Given the description of an element on the screen output the (x, y) to click on. 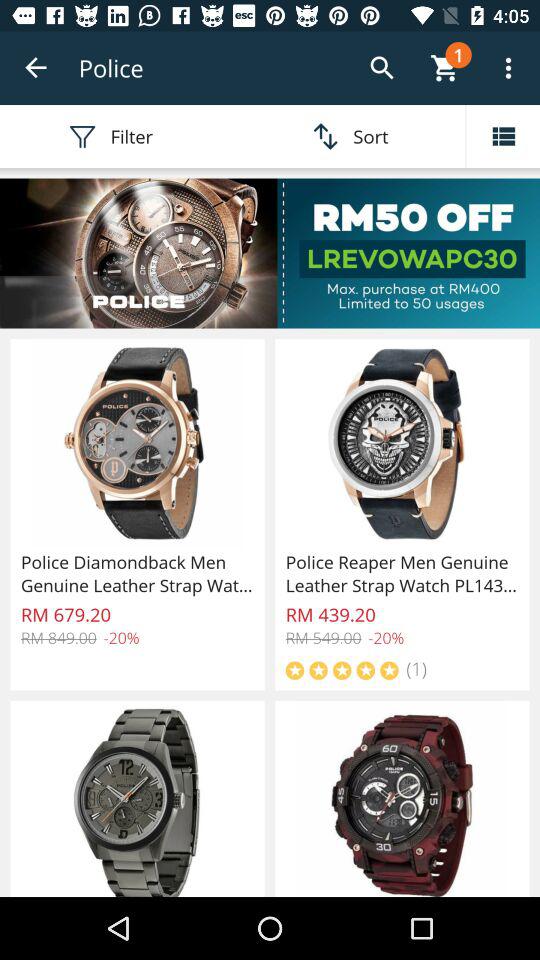
click the button on the top right corner of the web page (508, 68)
click on the cart icon right to search icon at right top of the page (445, 68)
select the image above 43920 (402, 443)
click on the search icon at the top of the page (381, 68)
